Given the description of an element on the screen output the (x, y) to click on. 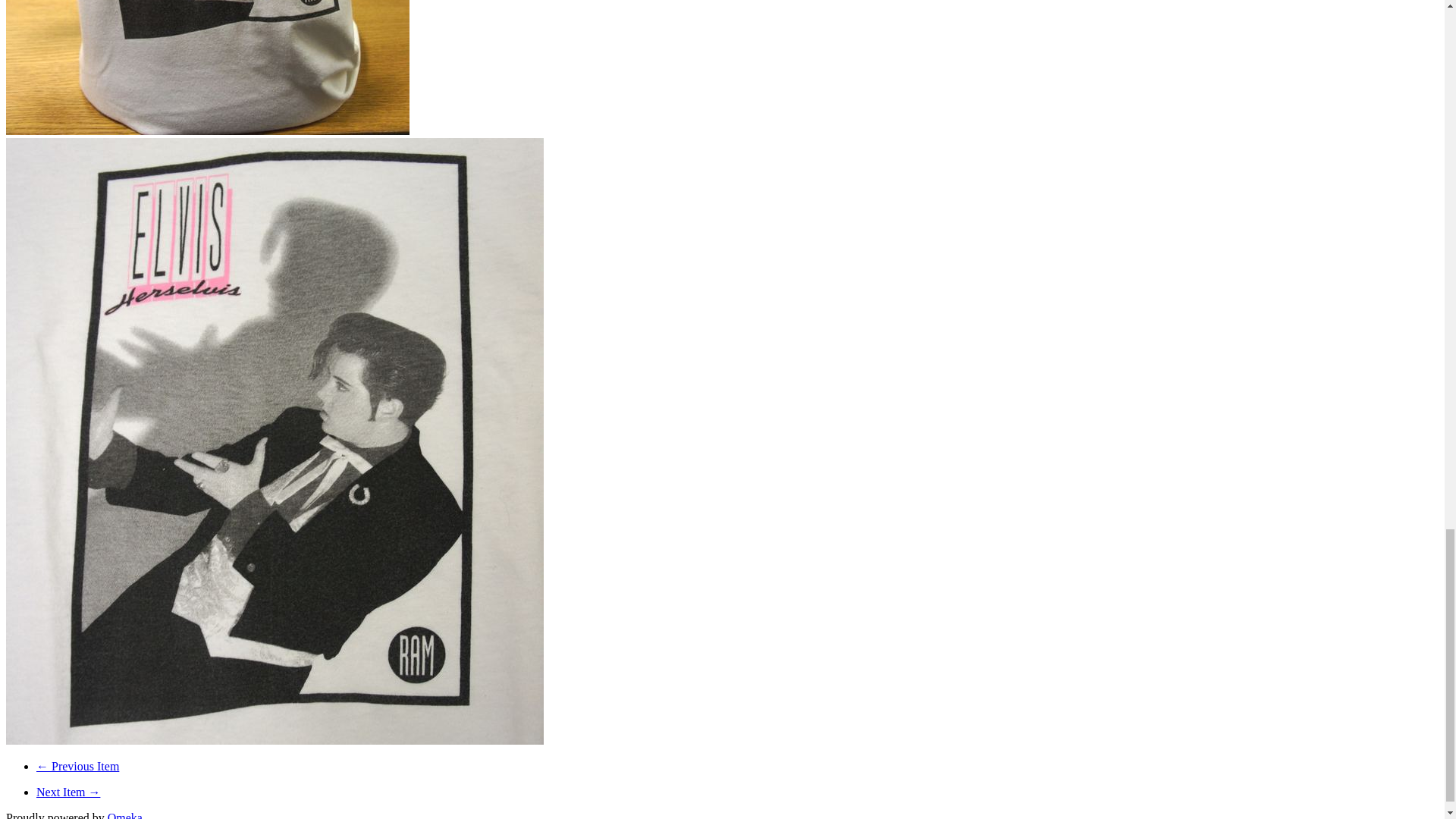
GLBTHS067.jpg (207, 67)
